Given the description of an element on the screen output the (x, y) to click on. 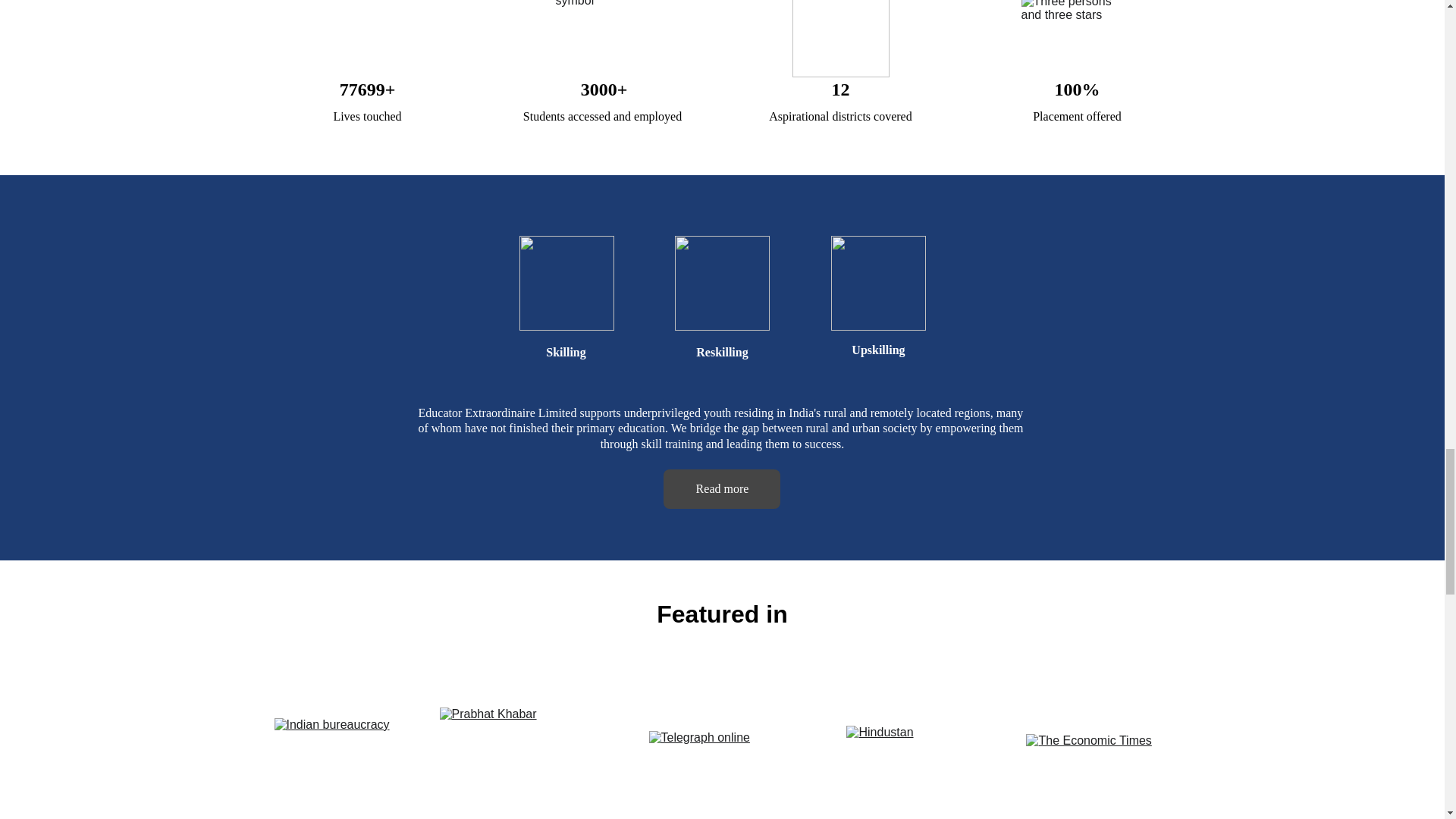
A growth symbol (603, 38)
Three persons and three stars (1076, 38)
A rotating globe (366, 38)
